Given the description of an element on the screen output the (x, y) to click on. 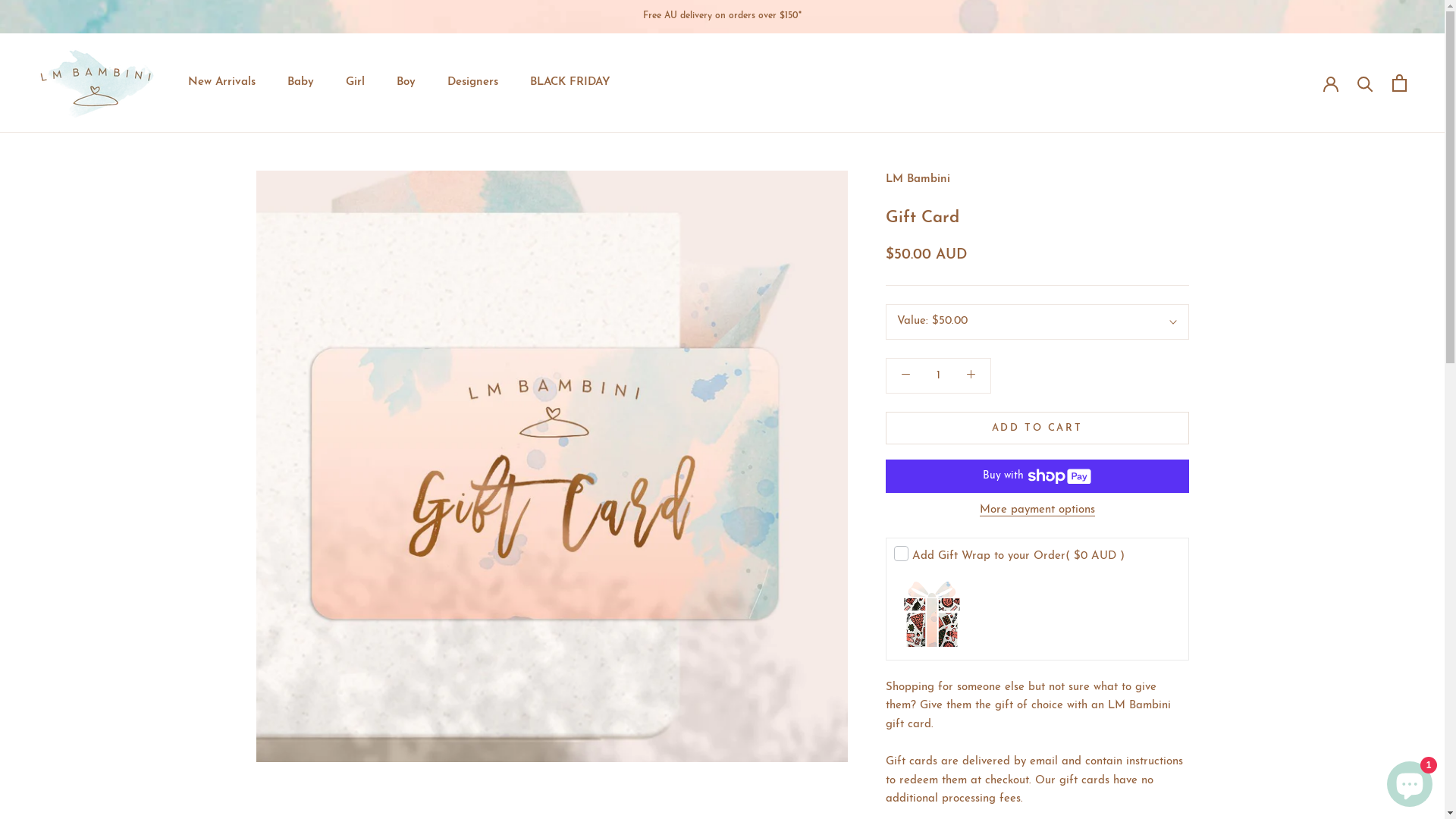
Boy
Boy Element type: text (405, 81)
Value: $50.00 Element type: text (1037, 321)
Shopify online store chat Element type: hover (1409, 780)
Girl
Girl Element type: text (354, 81)
BLACK FRIDAY
BLACK FRIDAY Element type: text (570, 81)
Designers
Designers Element type: text (472, 81)
More payment options Element type: text (1037, 509)
ADD TO CART Element type: text (1037, 427)
Baby
Baby Element type: text (300, 81)
New Arrivals
New Arrivals Element type: text (221, 81)
